Given the description of an element on the screen output the (x, y) to click on. 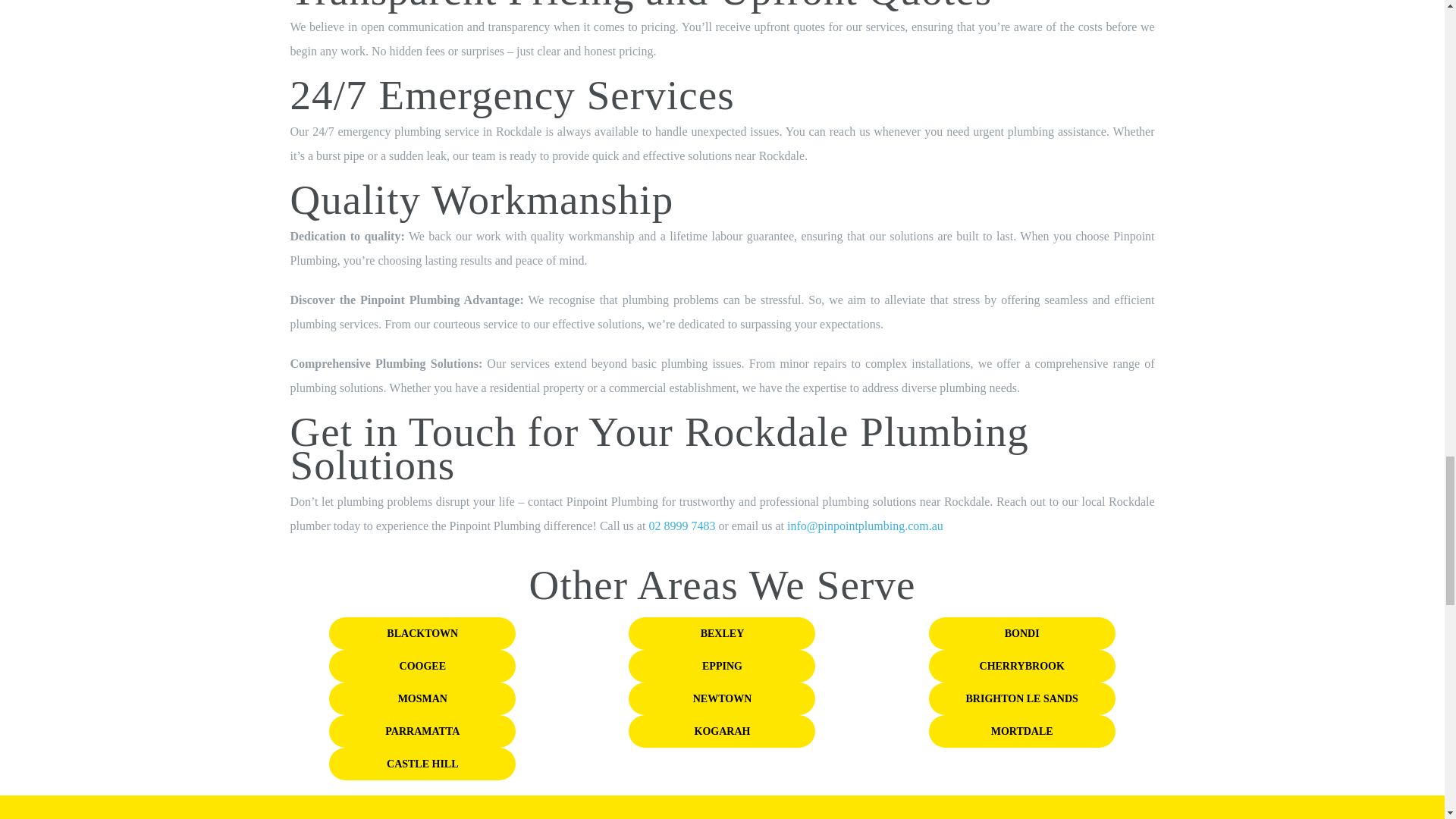
02 8999 7483 (680, 525)
BRIGHTON LE SANDS (1021, 698)
MOSMAN (422, 698)
MORTDALE (1021, 730)
NEWTOWN (721, 698)
COOGEE (422, 666)
PARRAMATTA (422, 730)
EPPING (721, 666)
CASTLE HILL (422, 763)
BEXLEY (721, 633)
